Given the description of an element on the screen output the (x, y) to click on. 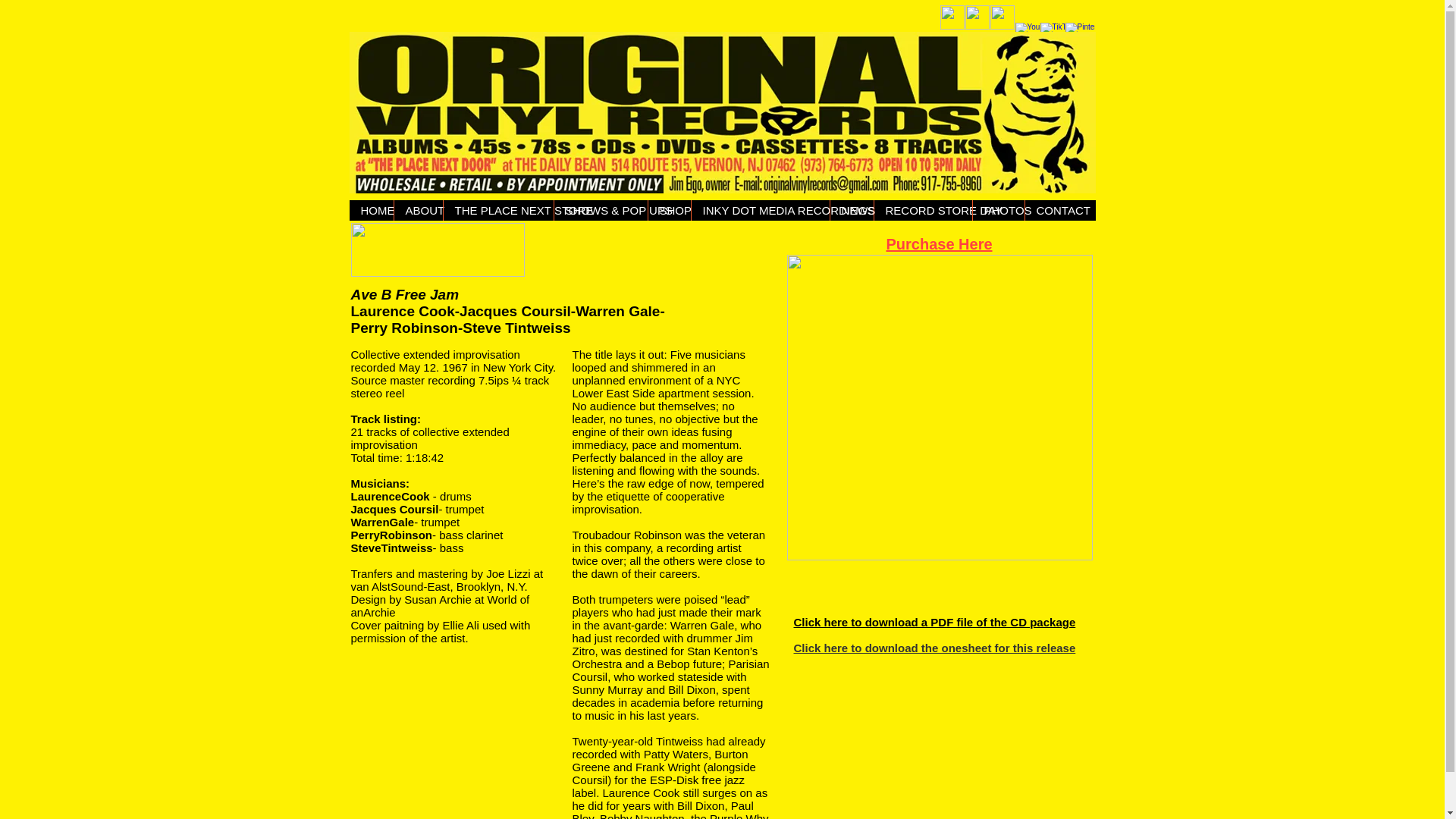
Purchase Here (938, 243)
test.jpg (721, 112)
INKY DOT MEDIA RECORDINGS (759, 209)
RECORD STORE DAY (922, 209)
CONTACT (1053, 209)
NEWS (851, 209)
Tintweiss Ave B Free Jam Cover.jpg (940, 407)
Click here to download a PDF file of the CD package (934, 621)
Click here to download the onesheet for this release (934, 647)
HOME (371, 209)
